Given the description of an element on the screen output the (x, y) to click on. 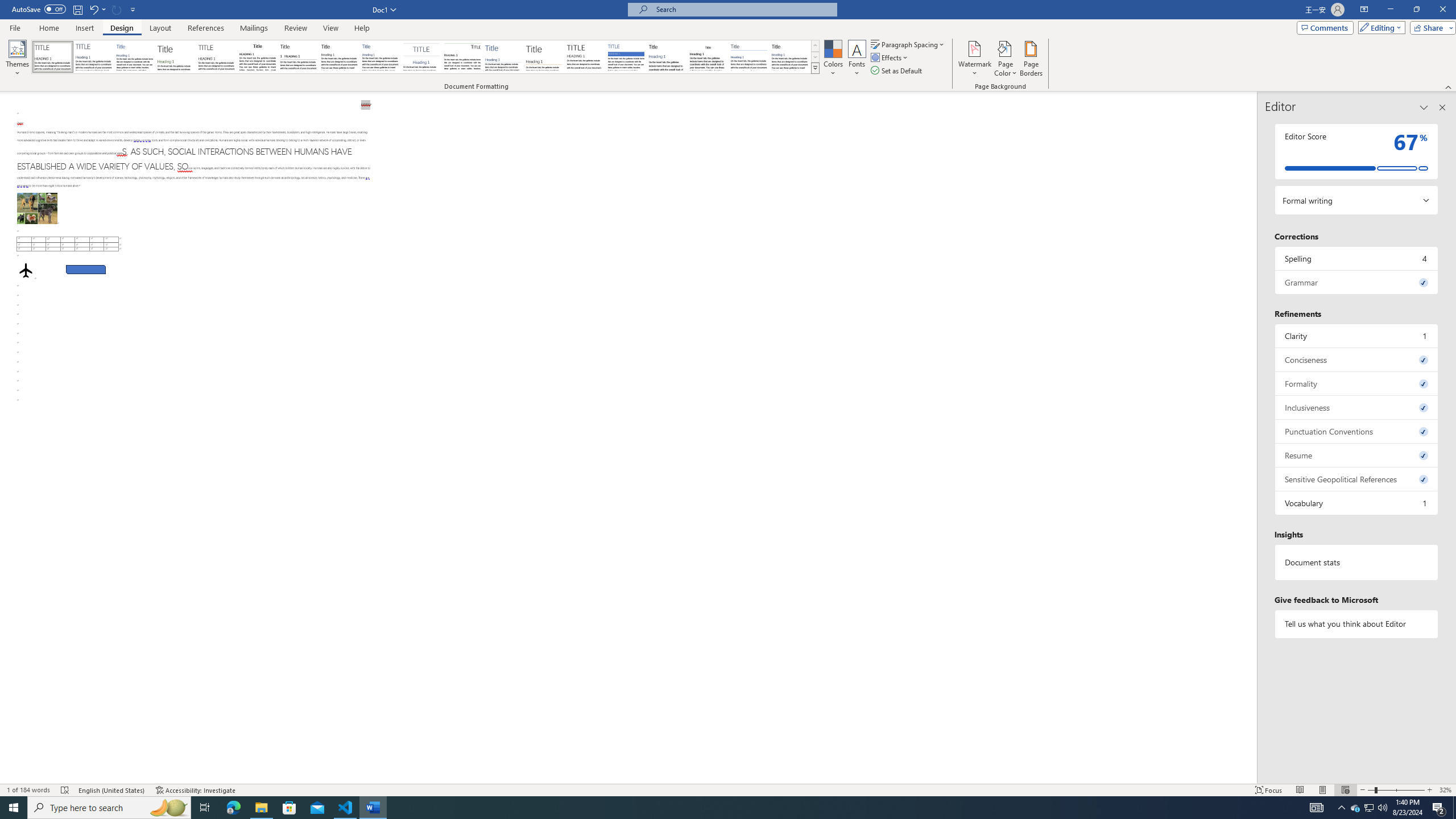
Class: MsoCommandBar (728, 45)
Style Set (814, 67)
Conciseness, 0 issues. Press space or enter to review items. (1356, 359)
Can't Repeat (117, 9)
